Given the description of an element on the screen output the (x, y) to click on. 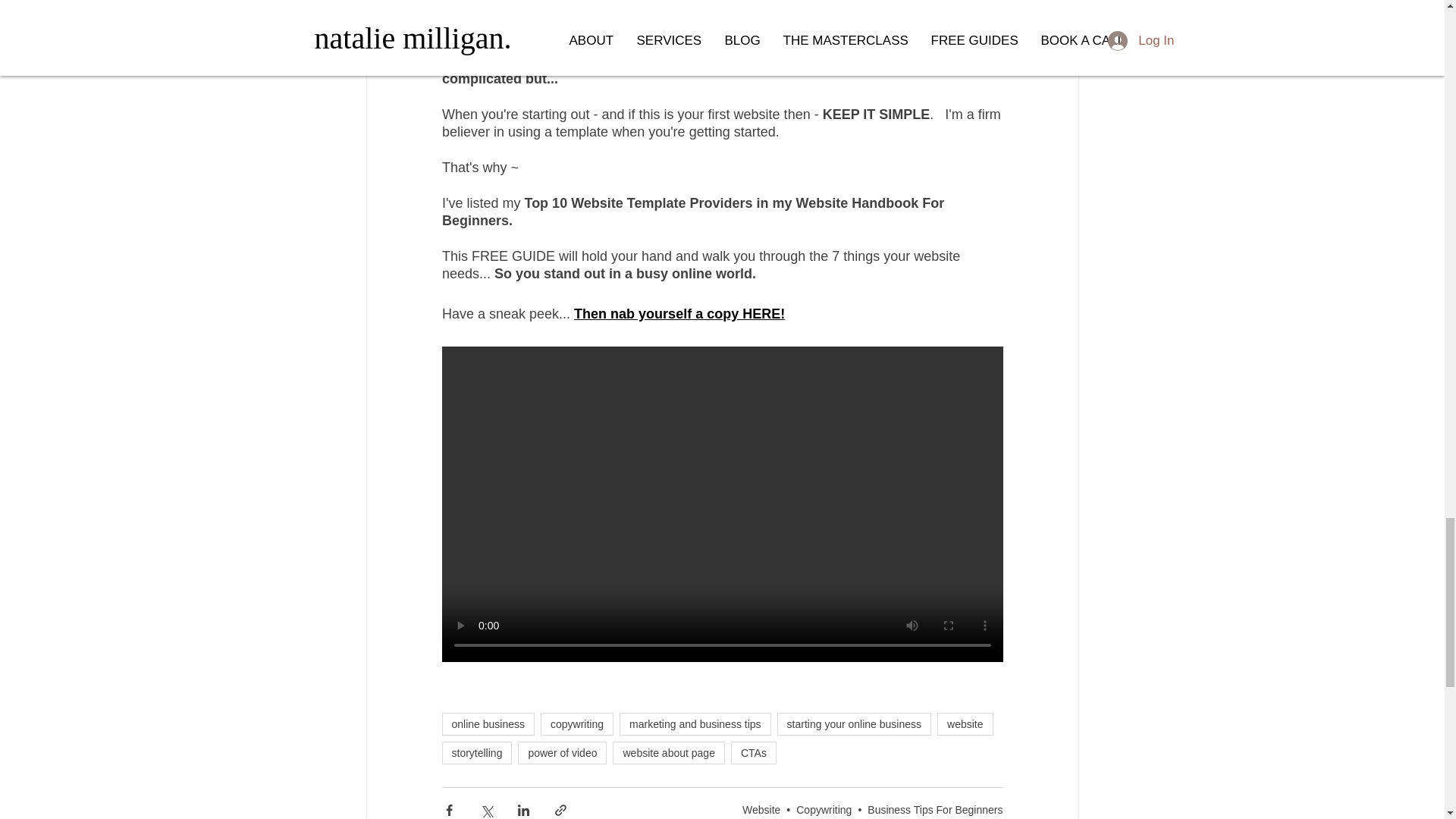
marketing and business tips (695, 723)
copywriting (576, 723)
online business (487, 723)
website about page (667, 753)
storytelling (476, 753)
Copywriting (823, 809)
Then nab yourself a copy HERE! (678, 313)
starting your online business (854, 723)
CTAs (753, 753)
website (964, 723)
power of video (562, 753)
Business Tips For Beginners (935, 809)
Website (761, 809)
